Given the description of an element on the screen output the (x, y) to click on. 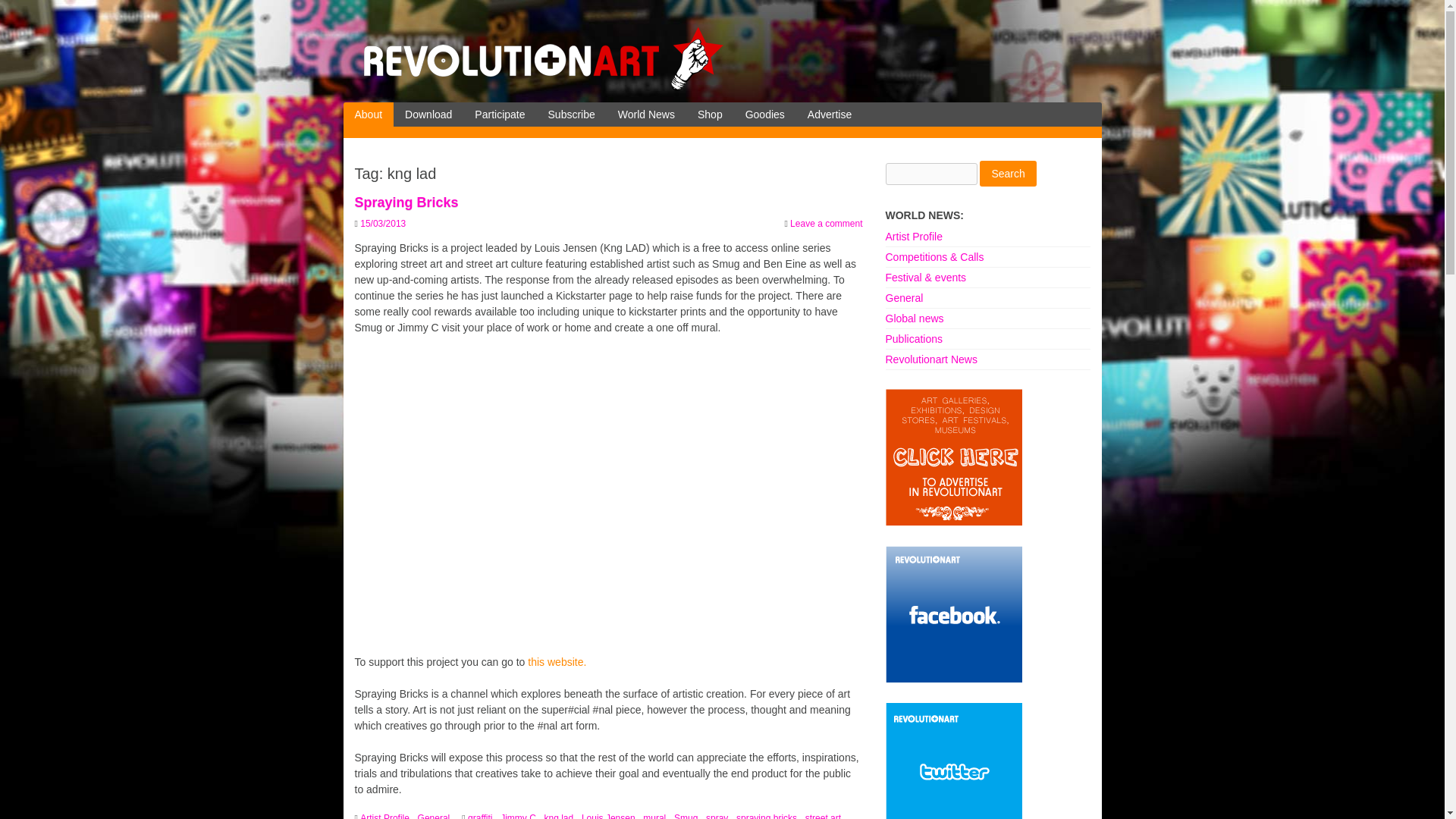
graffiti (481, 816)
Spraying Bricks (406, 201)
Download (428, 114)
Leave a comment (825, 223)
Search (1007, 173)
Advertise (829, 114)
Artist Profile (385, 816)
Publications (914, 338)
Global news (914, 318)
General (904, 297)
World News (646, 114)
this website. (556, 662)
Subscribe (572, 114)
mural (655, 816)
